Given the description of an element on the screen output the (x, y) to click on. 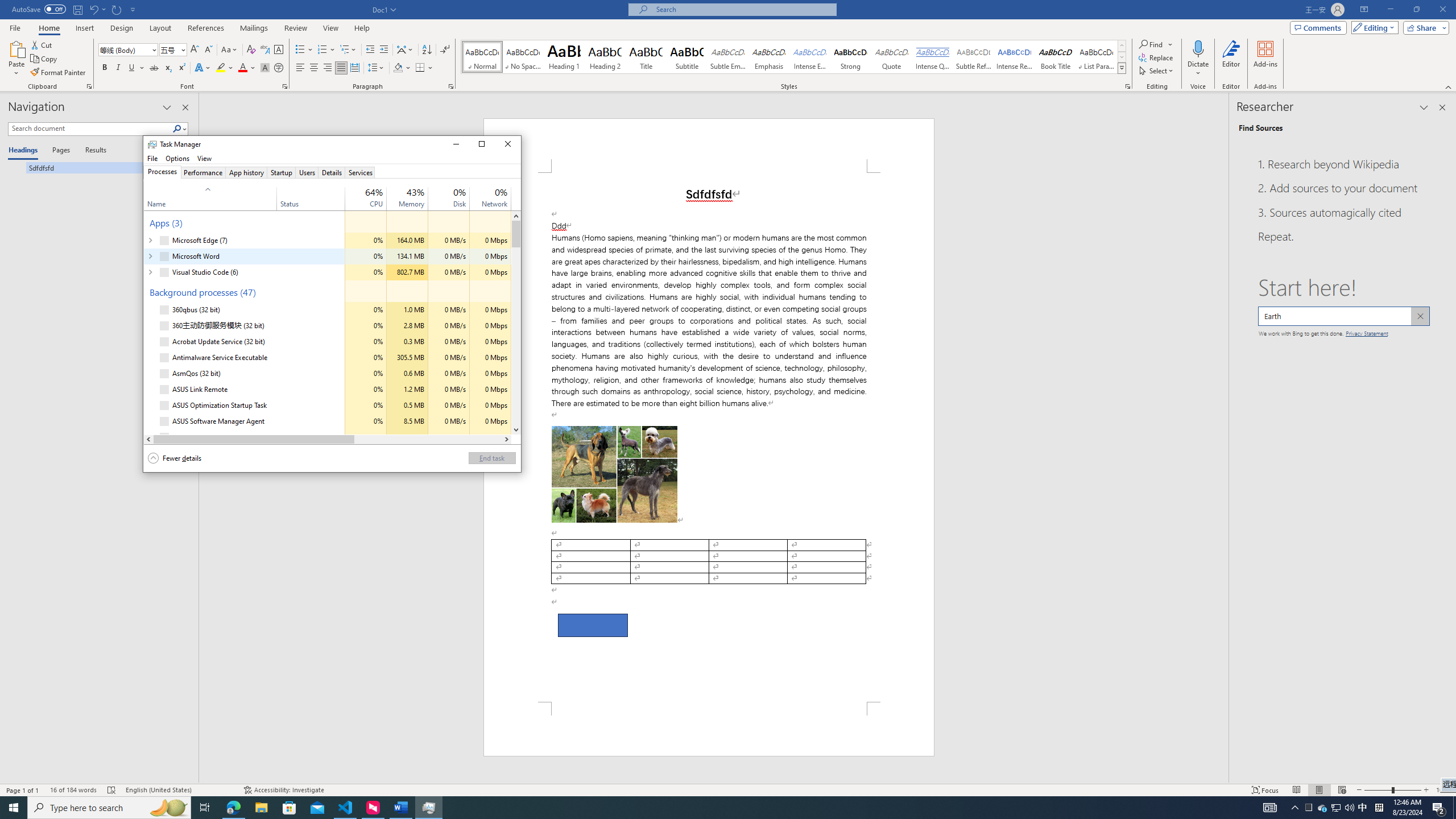
Services (360, 171)
Spelling and Grammar Check Errors (111, 790)
Title (646, 56)
Intense Emphasis (809, 56)
Line down (1335, 807)
43% (516, 429)
User Promoted Notification Area (415, 191)
Show desktop (1336, 807)
